Given the description of an element on the screen output the (x, y) to click on. 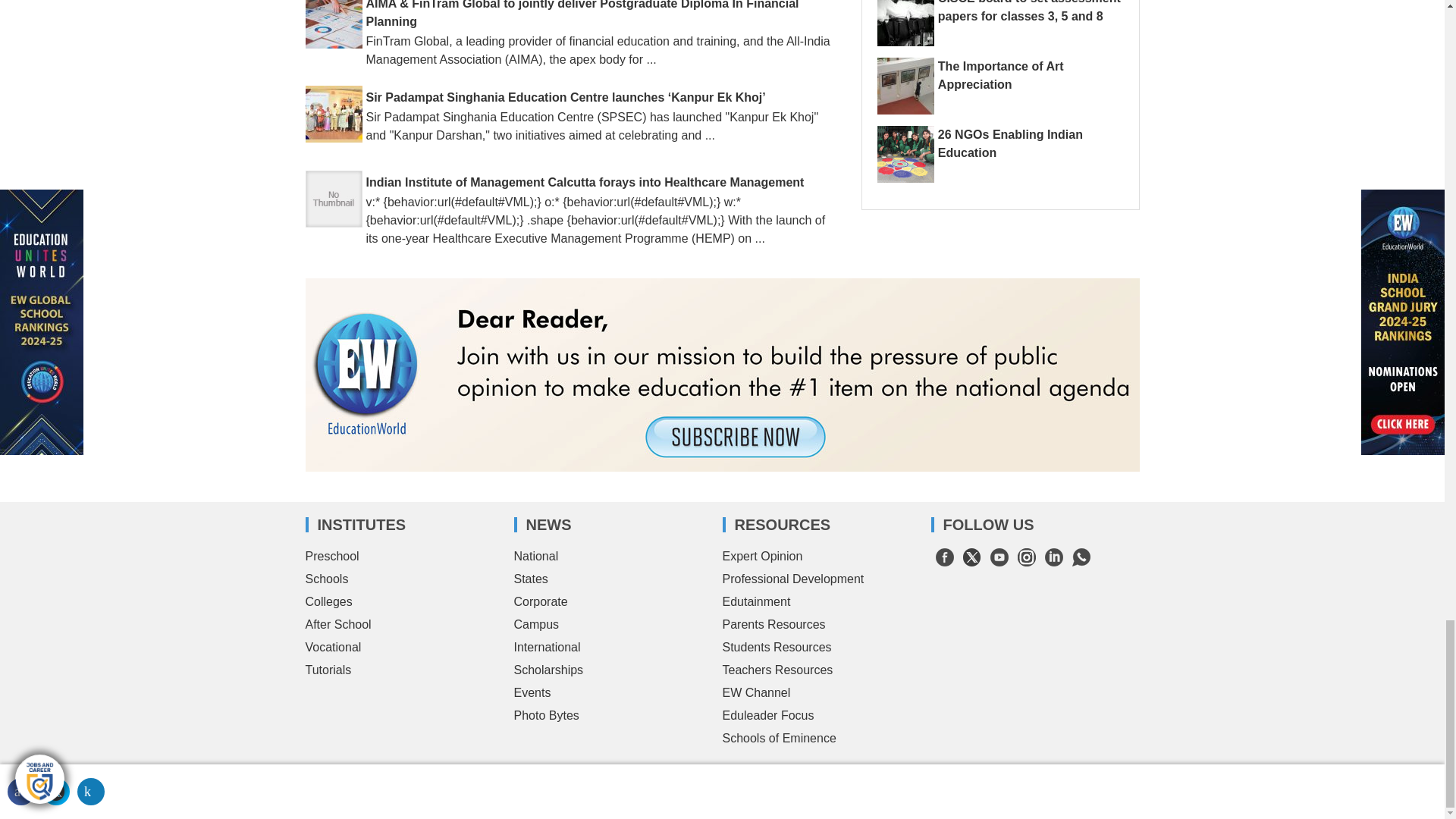
EducationWorld (387, 775)
